Given the description of an element on the screen output the (x, y) to click on. 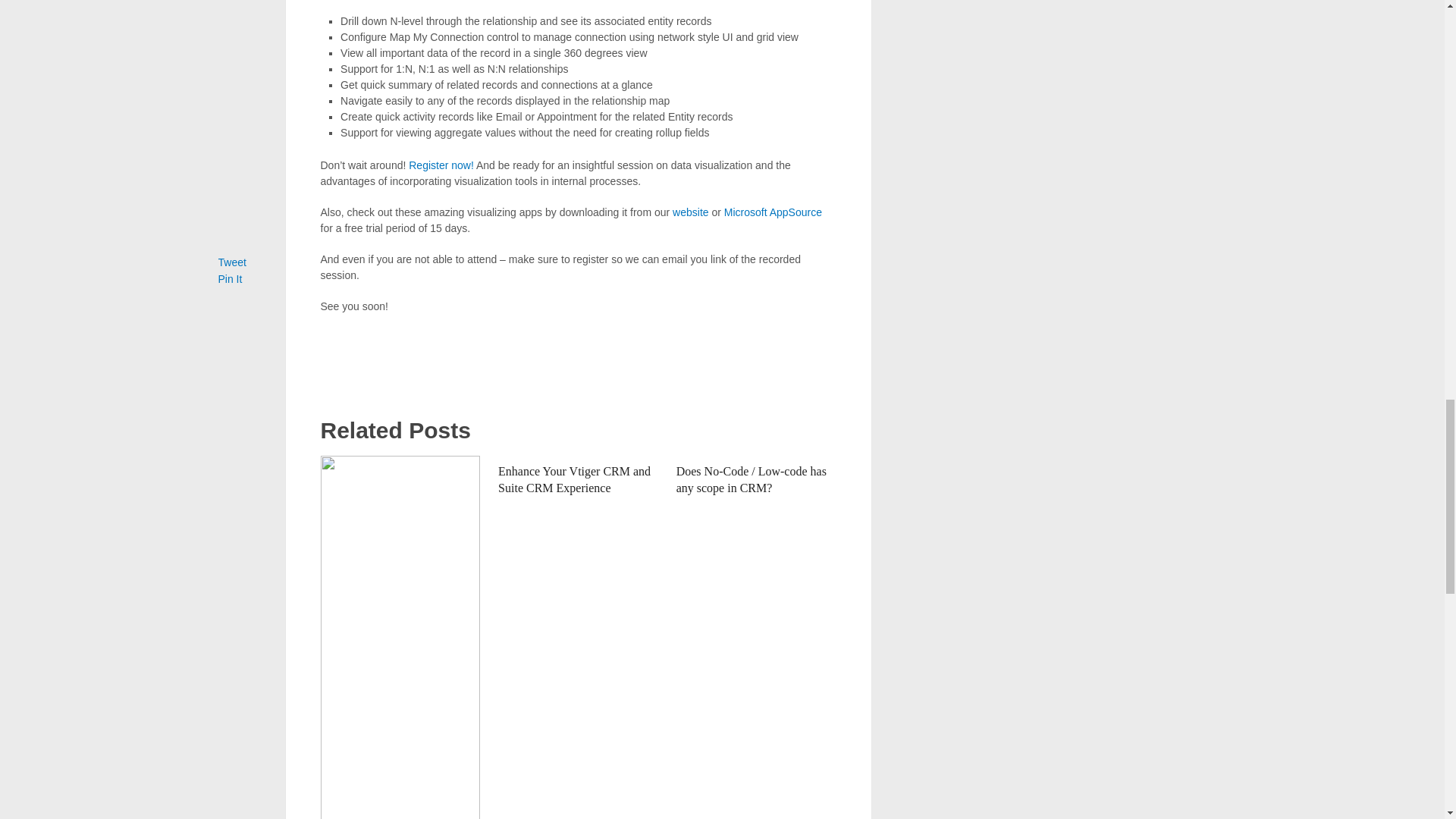
Enhance Your Vtiger CRM and Suite CRM Experience (573, 479)
Microsoft AppSource (772, 212)
Register now! (441, 164)
Enhance Your Vtiger CRM and Suite CRM Experience (573, 479)
website (689, 212)
